Given the description of an element on the screen output the (x, y) to click on. 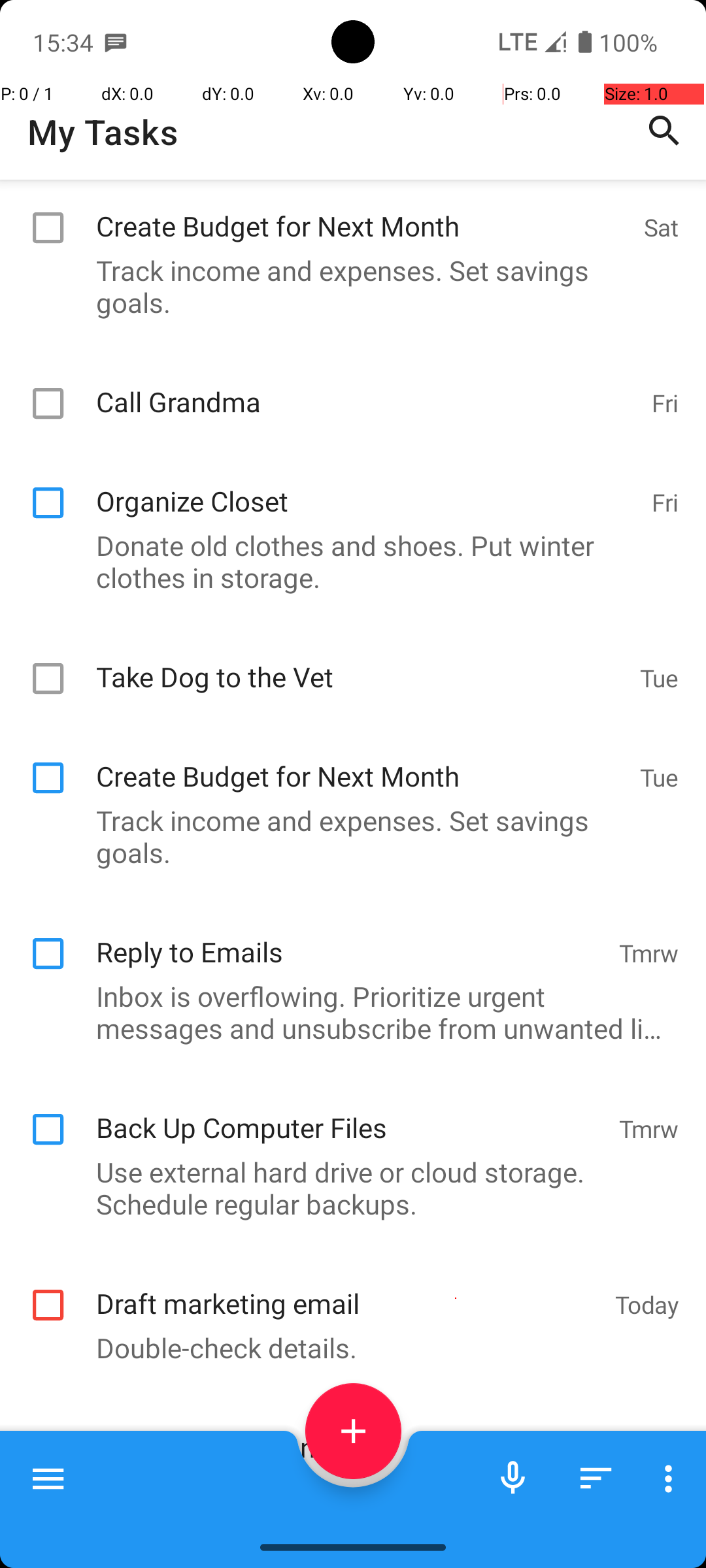
Use external hard drive or cloud storage. Schedule regular backups. Element type: android.widget.TextView (346, 1187)
Draft marketing email Element type: android.widget.TextView (348, 1289)
Double-check details. Element type: android.widget.TextView (346, 1347)
Review code changes Element type: android.widget.TextView (348, 1432)
This is high priority. Element type: android.widget.TextView (346, 1490)
